Given the description of an element on the screen output the (x, y) to click on. 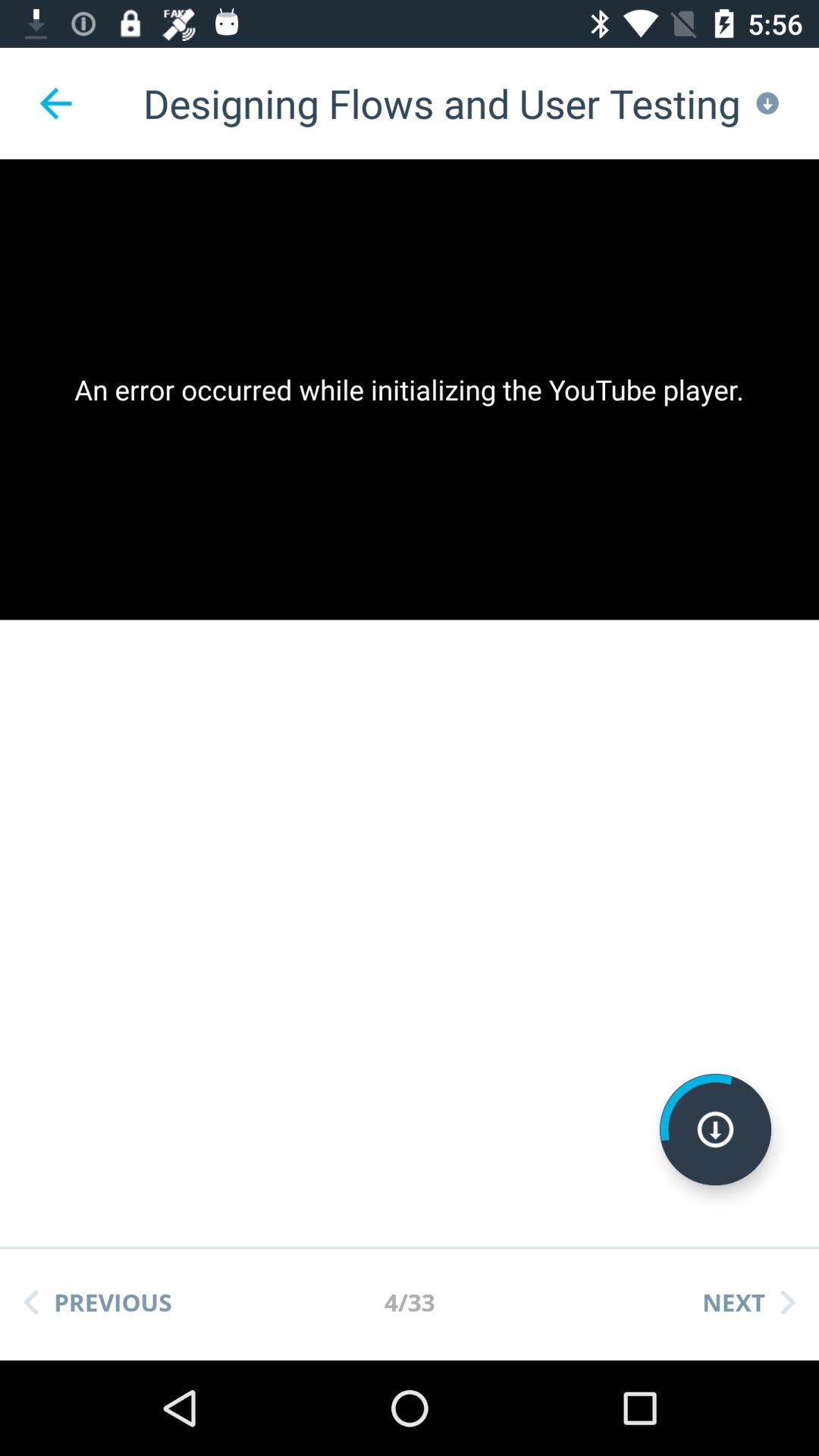
download (715, 1129)
